Given the description of an element on the screen output the (x, y) to click on. 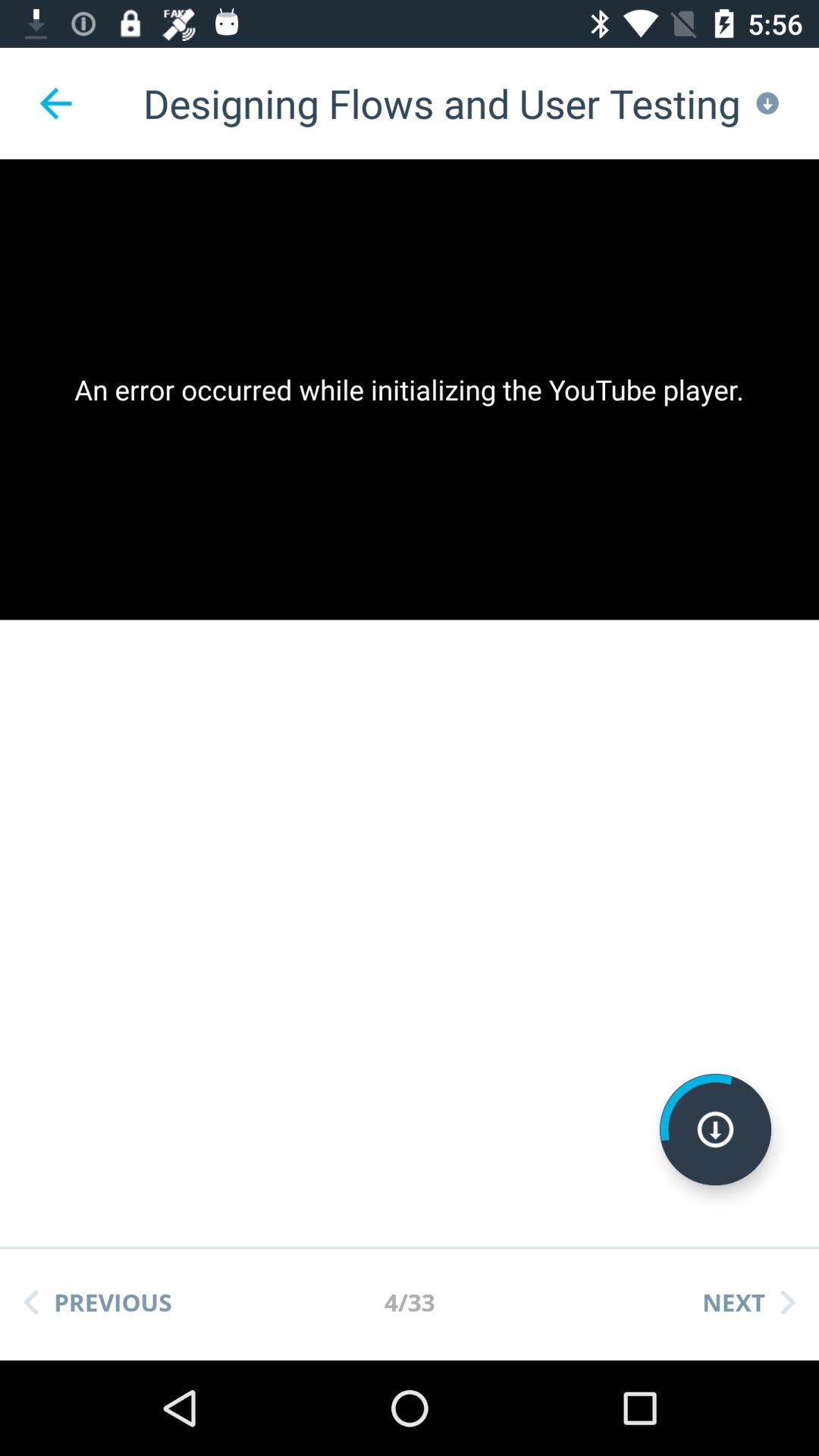
download (715, 1129)
